Given the description of an element on the screen output the (x, y) to click on. 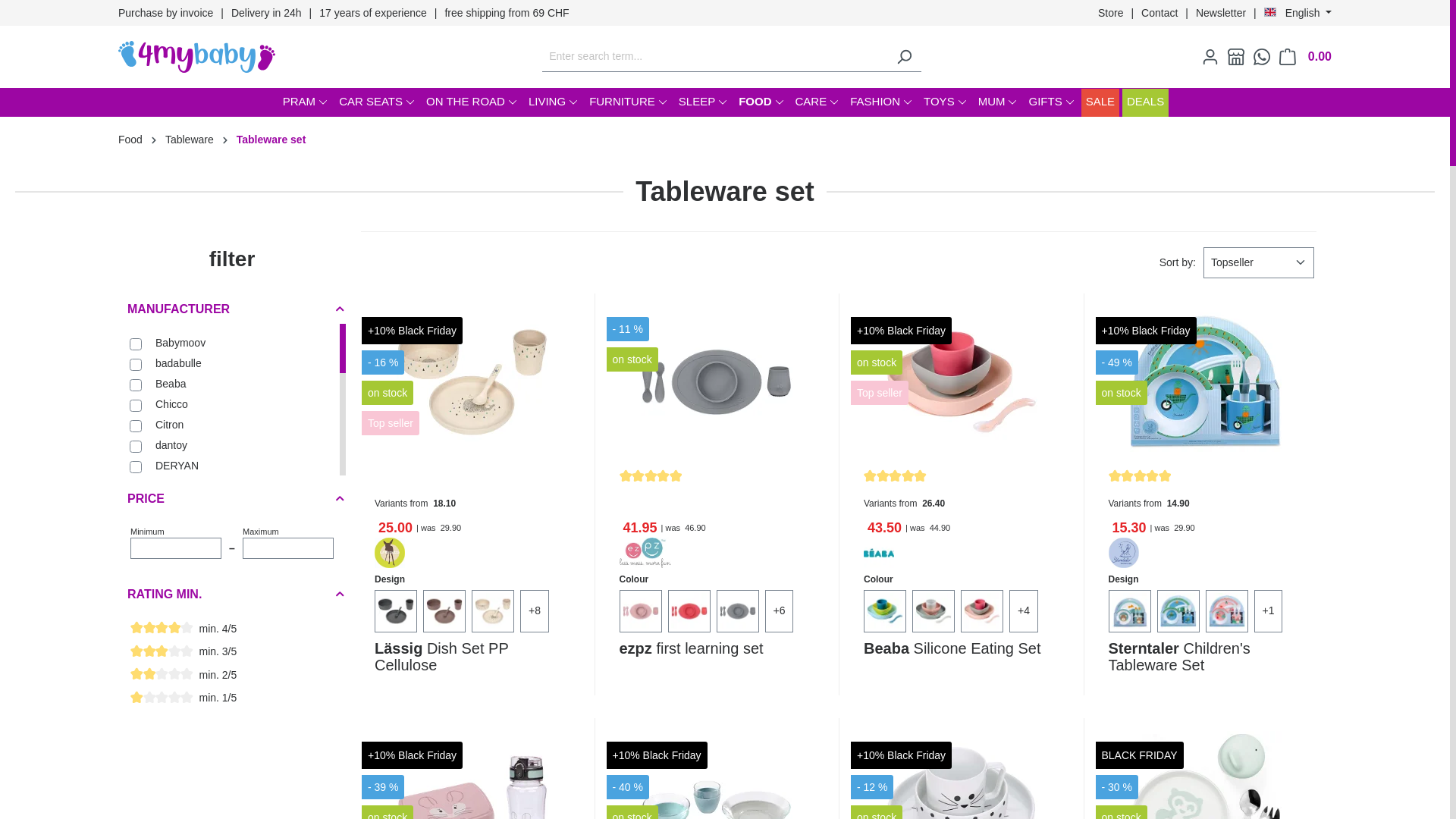
Store Element type: text (1110, 12)
Choco Element type: hover (444, 611)
+
6 Element type: text (778, 611)
Ben Element type: hover (1129, 610)
MANUFACTURER Element type: text (231, 308)
FOOD Element type: text (760, 102)
CARE Element type: text (816, 102)
PRICE Element type: text (231, 498)
eucalyptus Element type: hover (933, 611)
TOYS Element type: text (944, 102)
blush Element type: hover (639, 611)
Little Water Whale Element type: hover (492, 610)
Go to homepage Element type: hover (196, 56)
Tableware Element type: text (189, 139)
+
1 Element type: text (1268, 611)
Anthracite Element type: hover (395, 611)
4mybaby Store Element type: hover (1231, 56)
RATING MIN. Element type: text (231, 594)
Newsletter Element type: text (1220, 12)
Sterntaler Children's Tableware Set Element type: hover (1206, 382)
Emmily Element type: hover (1226, 610)
blue Element type: hover (884, 611)
Choco Element type: hover (444, 610)
coral Element type: hover (688, 611)
blue Element type: hover (884, 610)
ezpz first learning set Element type: hover (716, 382)
LIVING Element type: text (552, 102)
MUM Element type: text (997, 102)
PRAM Element type: text (304, 102)
coral Element type: hover (688, 610)
ON THE ROAD Element type: text (470, 102)
pink Element type: hover (981, 611)
Contact Element type: text (1159, 12)
Sterntaler Element type: hover (1123, 552)
Anthracite Element type: hover (395, 610)
Emmily Element type: hover (1226, 611)
grey Element type: hover (736, 611)
Your account Element type: hover (1205, 56)
DEALS Element type: text (1145, 102)
WhatsApp Element type: hover (1257, 56)
pink Element type: hover (981, 610)
eucalyptus Element type: hover (933, 610)
English Element type: text (1297, 12)
FURNITURE Element type: text (627, 102)
CAR SEATS Element type: text (376, 102)
SLEEP Element type: text (702, 102)
grey Element type: hover (736, 610)
SALE Element type: text (1100, 102)
+
4 Element type: text (1023, 611)
Emmilius Element type: hover (1178, 611)
blush Element type: hover (639, 610)
Beaba Element type: hover (878, 552)
ezpz Element type: hover (644, 552)
Beaba Silicone Eating Set Element type: hover (961, 382)
Little Water Whale Element type: hover (492, 611)
Ben Element type: hover (1129, 611)
FASHION Element type: text (880, 102)
+
8 Element type: text (534, 611)
Beaba Silicone Eating Set Element type: text (961, 657)
Emmilius Element type: hover (1178, 610)
 0.00 Element type: text (1300, 56)
Sterntaler Children's Tableware Set Element type: text (1206, 657)
Food Element type: text (130, 139)
Purchase by invoice Element type: text (165, 12)
ezpz first learning set Element type: text (716, 657)
free shipping from 69 CHF Element type: text (506, 12)
Tableware set Element type: text (271, 139)
GIFTS Element type: text (1050, 102)
